Given the description of an element on the screen output the (x, y) to click on. 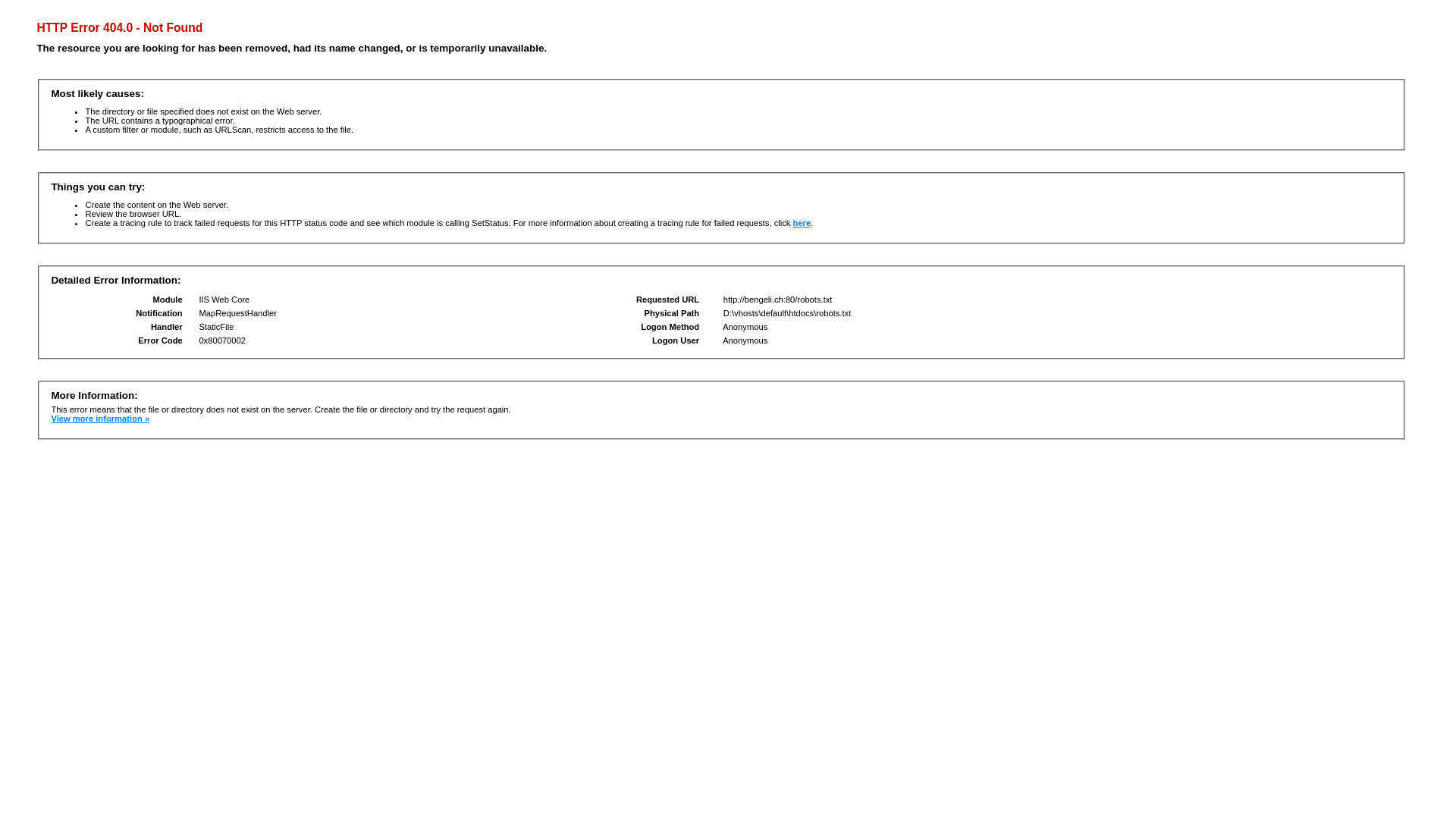
here Element type: text (802, 222)
